Given the description of an element on the screen output the (x, y) to click on. 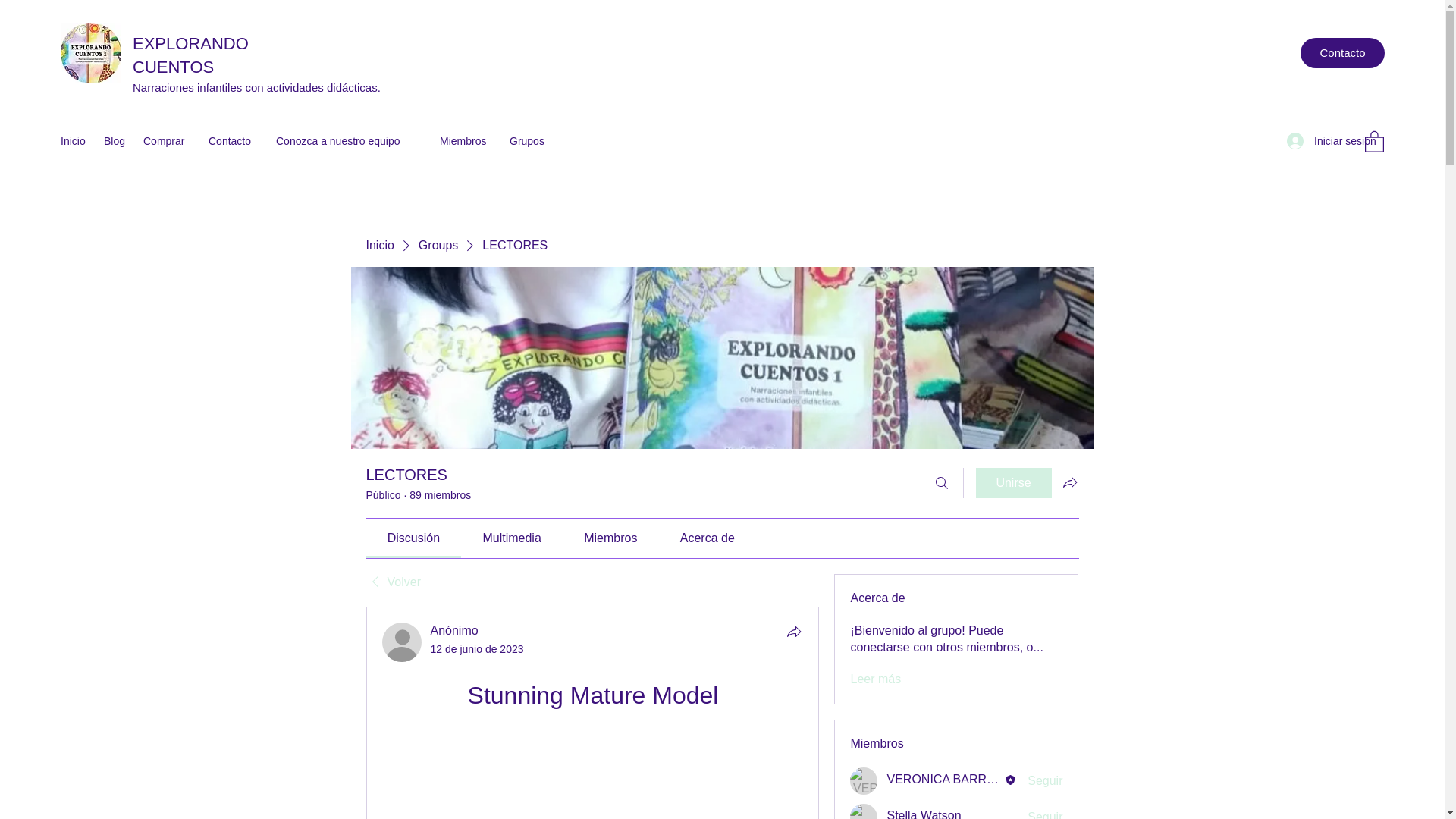
Comprar (167, 140)
Grupos (529, 140)
Conozca a nuestro equipo (349, 140)
Miembros (467, 140)
Blog (115, 140)
EXPLORANDO CUENTOS (190, 55)
Volver (392, 582)
Groups (438, 245)
Inicio (379, 245)
Contacto (233, 140)
Stella Watson (923, 814)
Inicio (74, 140)
12 de junio de 2023 (477, 648)
Unirse (1013, 482)
VERONICA BARRANCO (863, 780)
